Given the description of an element on the screen output the (x, y) to click on. 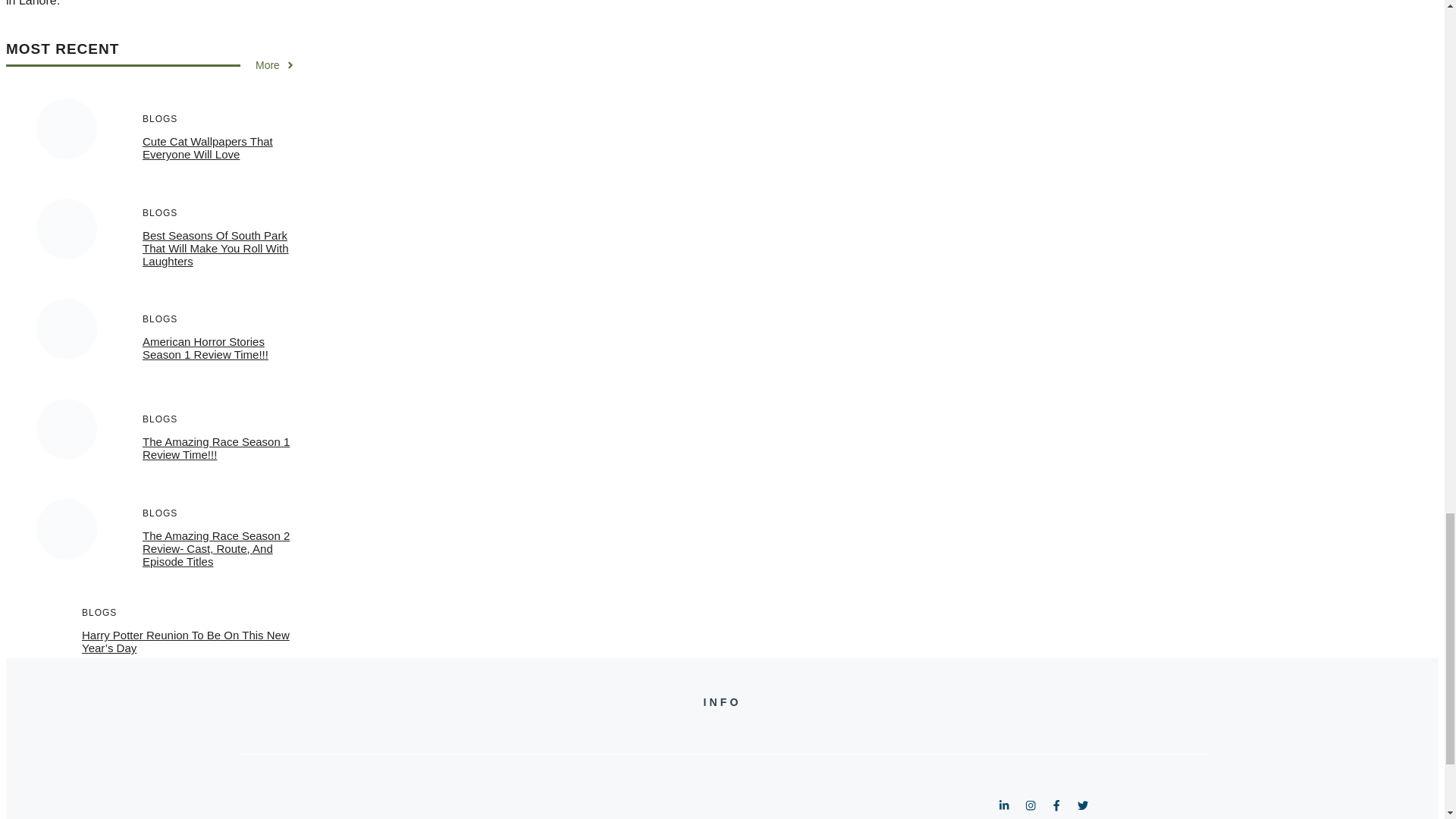
American Horror Stories Season 1 Review Time!!! (204, 347)
More (275, 64)
The Amazing Race Season 1 Review Time!!! (215, 447)
Cute Cat Wallpapers That Everyone Will Love (207, 147)
